Given the description of an element on the screen output the (x, y) to click on. 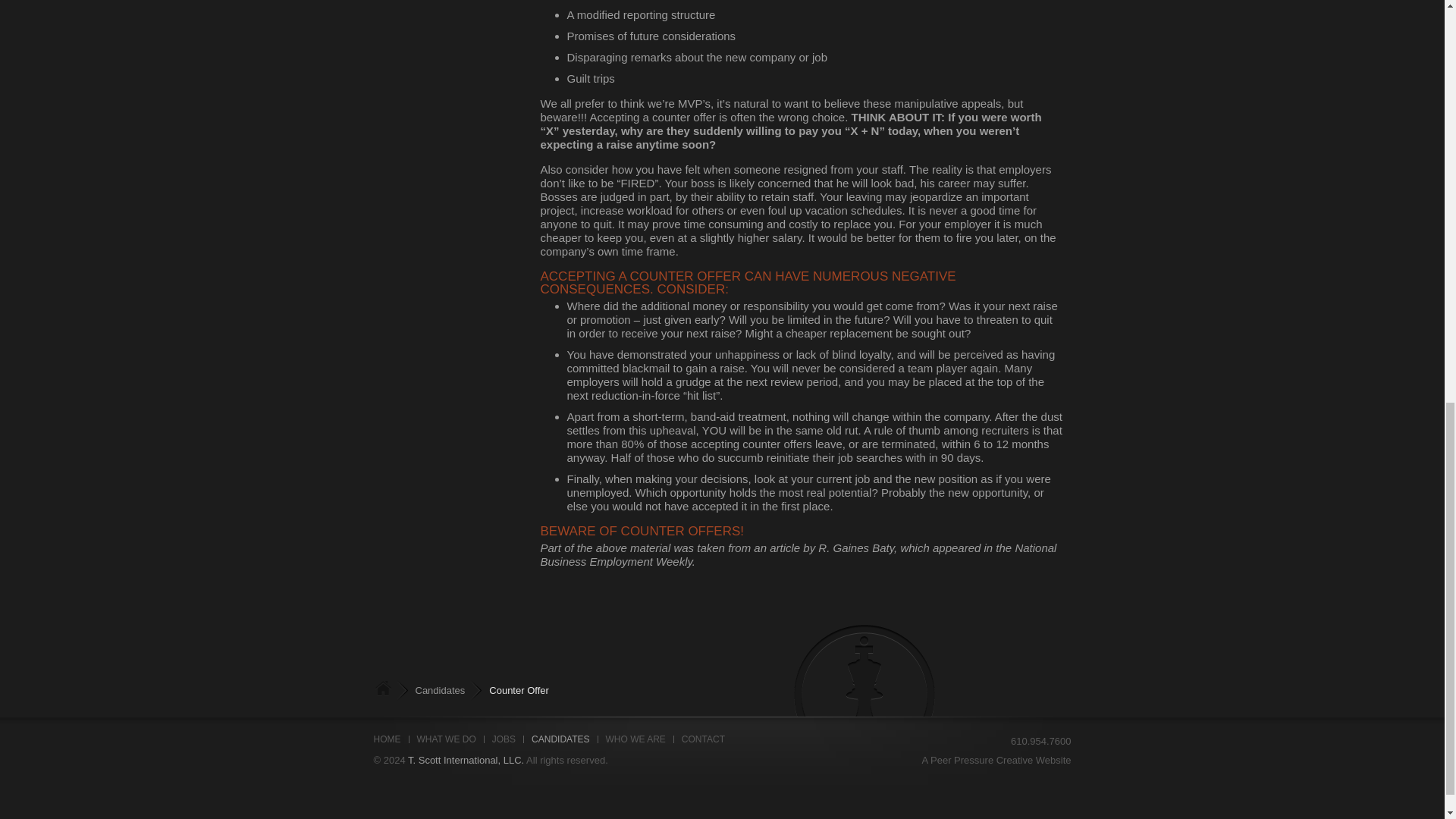
Go to Candidates. (429, 689)
Candidates (429, 689)
CANDIDATES (563, 738)
CONTACT (706, 738)
JOBS (508, 738)
Go to Counter Offer. (506, 689)
Go to T. Scott International. (381, 687)
WHO WE ARE (639, 738)
HOME (390, 738)
T. Scott International (381, 687)
